Given the description of an element on the screen output the (x, y) to click on. 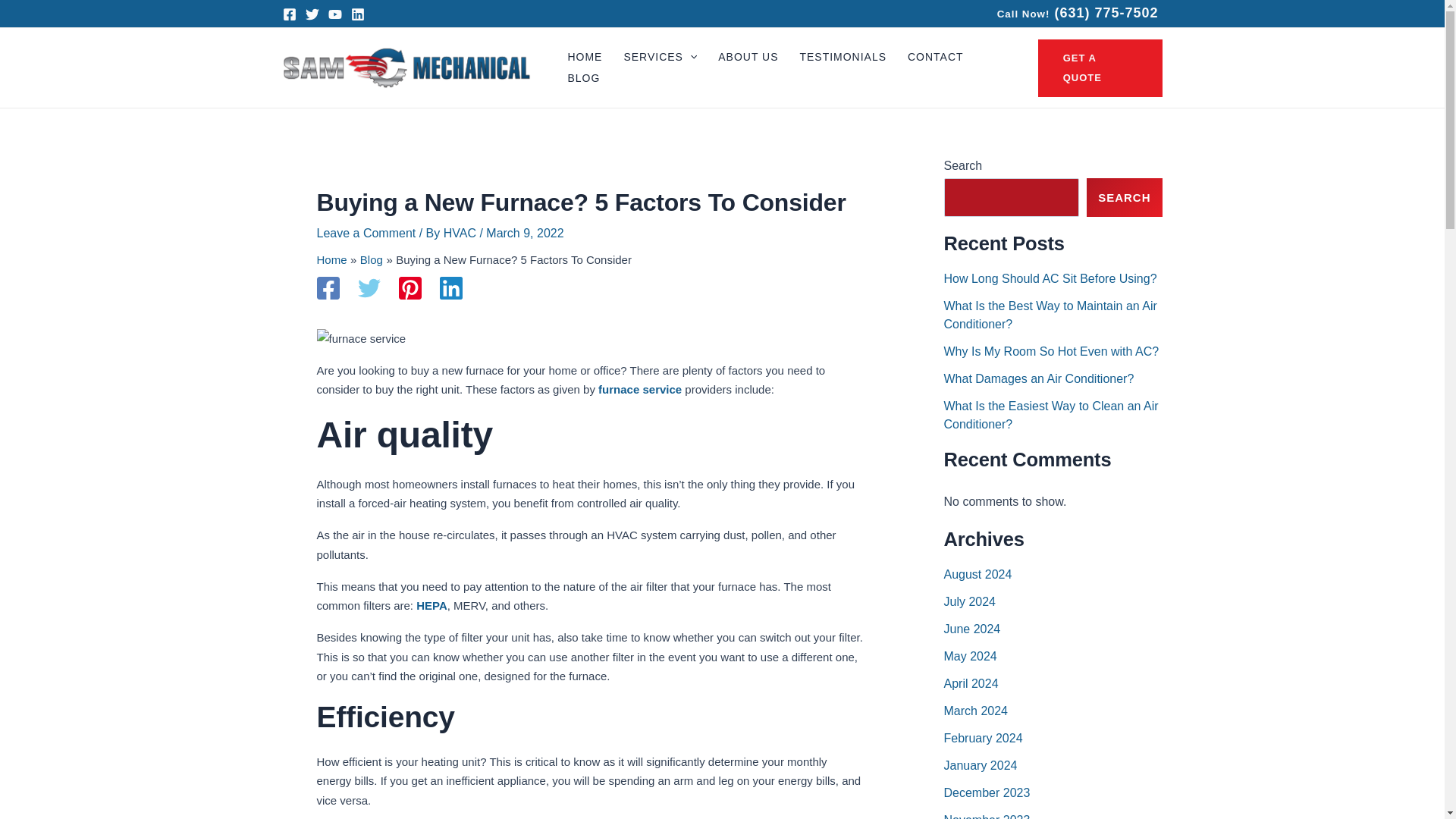
ABOUT US (748, 56)
TESTIMONIALS (842, 56)
GET A QUOTE (1099, 68)
SERVICES (659, 56)
View all posts by HVAC (462, 232)
CONTACT (935, 56)
HOME (584, 56)
BLOG (583, 78)
